Given the description of an element on the screen output the (x, y) to click on. 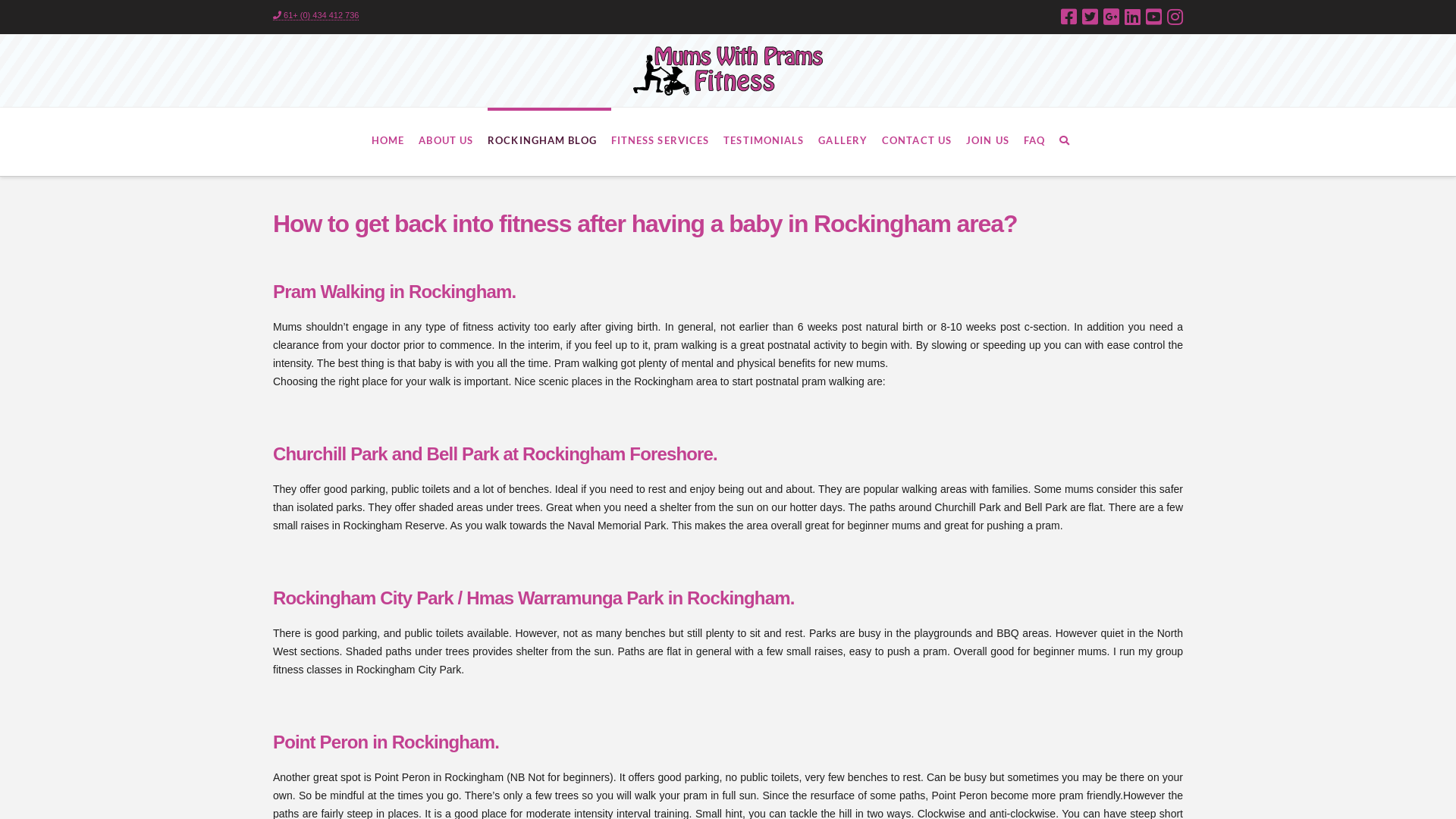
Facebook Element type: hover (1068, 16)
61+ (0) 434 412 736 Element type: text (315, 15)
CONTACT US Element type: text (923, 141)
ABOUT US Element type: text (452, 141)
Instagram Element type: hover (1175, 16)
Twitter Element type: hover (1090, 16)
ROCKINGHAM BLOG Element type: text (548, 141)
Google+ Element type: hover (1111, 16)
HOME Element type: text (394, 141)
FITNESS SERVICES Element type: text (667, 141)
YouTube Element type: hover (1153, 16)
GALLERY Element type: text (849, 141)
FAQ Element type: text (1041, 141)
TESTIMONIALS Element type: text (770, 141)
LinkedIn Element type: hover (1132, 16)
JOIN US Element type: text (994, 141)
